Given the description of an element on the screen output the (x, y) to click on. 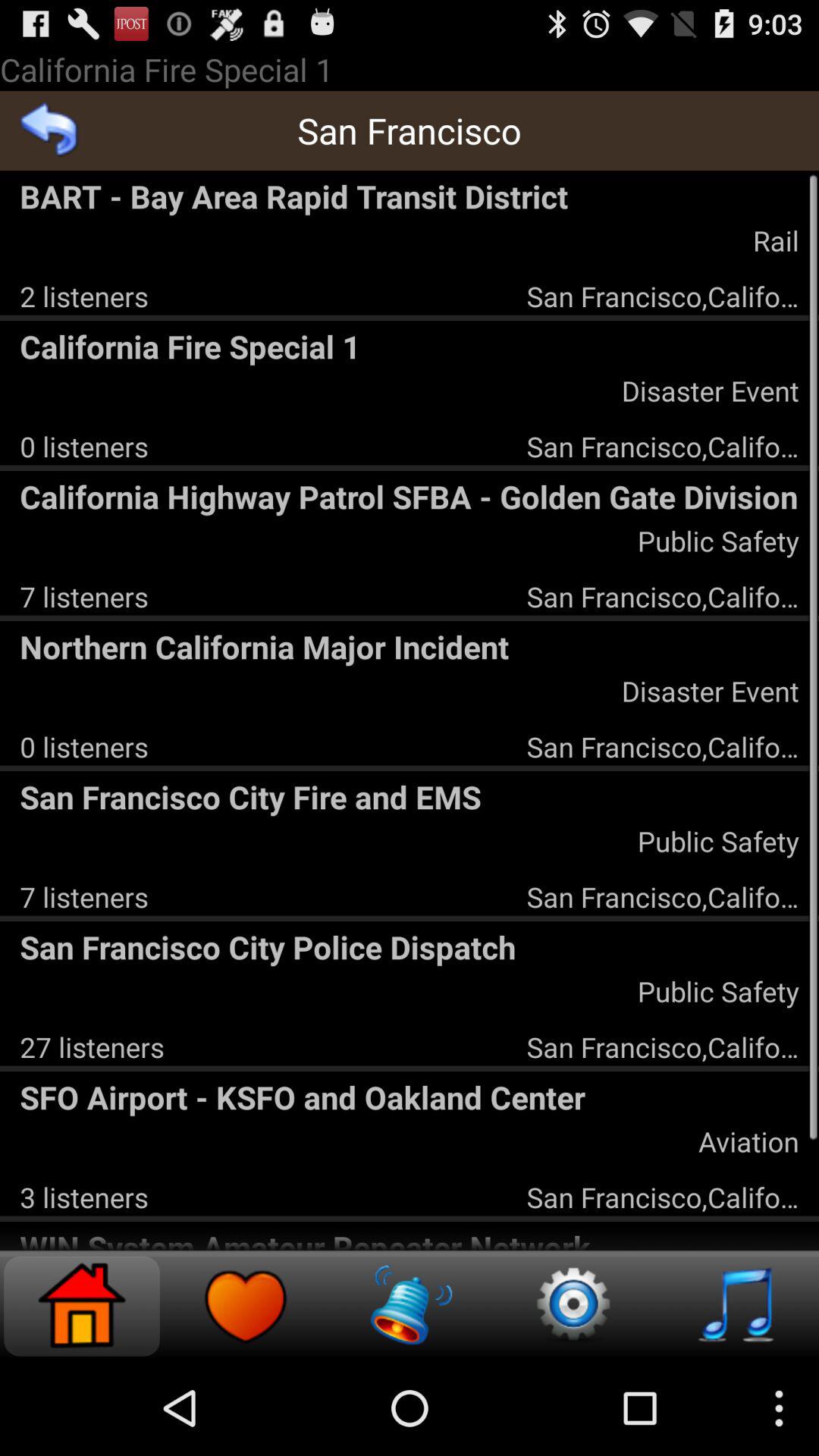
choose the app next to san francisco,california icon (83, 296)
